Given the description of an element on the screen output the (x, y) to click on. 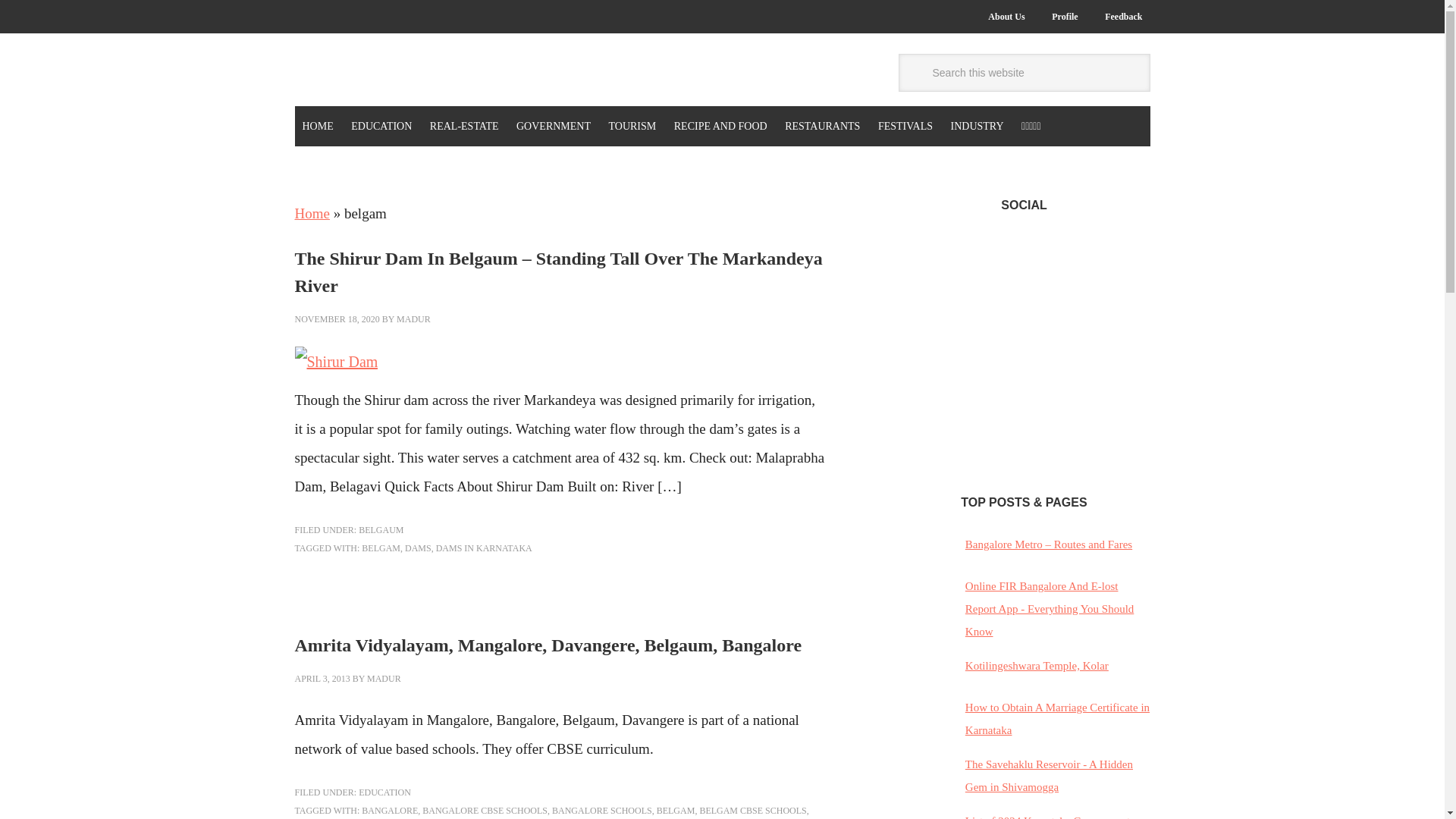
REAL-ESTATE (464, 126)
MADUR (413, 318)
Home (311, 213)
List of 2024 Karnataka Government Holidays (1047, 816)
KARNATAKA.COM (396, 71)
About Us (1005, 16)
How to Obtain A Marriage Certificate in Karnataka (1057, 718)
Amrita Vidyalayam, Mangalore, Davangere, Belgaum, Bangalore (548, 645)
Feedback (1123, 16)
BANGALORE CBSE SCHOOLS (484, 810)
The Savehaklu Reservoir - A Hidden Gem in Shivamogga (1048, 775)
BELGAM (380, 547)
INDUSTRY (977, 126)
